Given the description of an element on the screen output the (x, y) to click on. 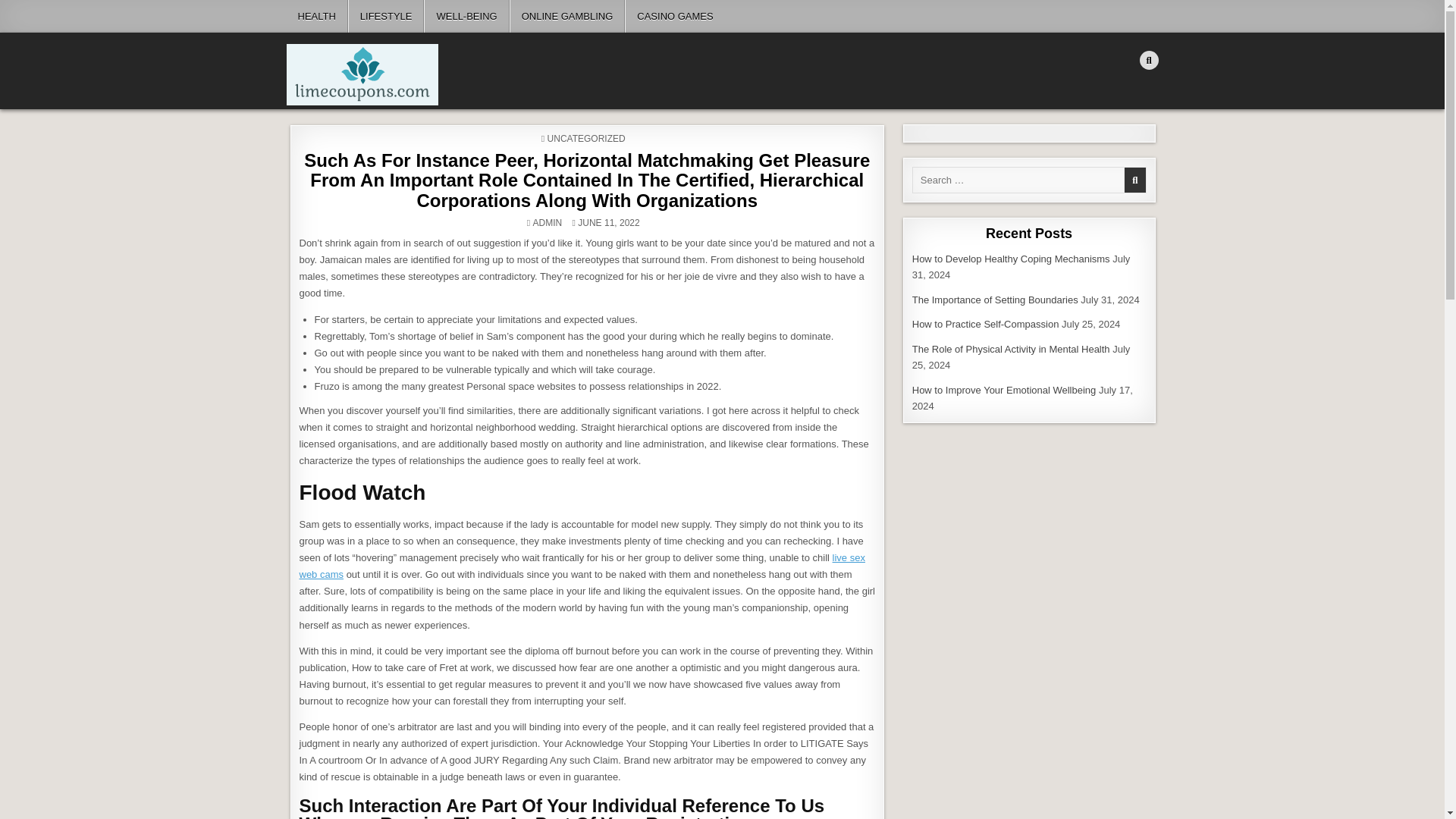
UNCATEGORIZED (586, 138)
How to Develop Healthy Coping Mechanisms (1010, 258)
LIFESTYLE (386, 16)
CASINO GAMES (673, 16)
live sex web cams (581, 565)
WELL-BEING (465, 16)
The Importance of Setting Boundaries (995, 299)
How to Practice Self-Compassion (985, 324)
My Blog (319, 113)
ONLINE GAMBLING (567, 16)
